Given the description of an element on the screen output the (x, y) to click on. 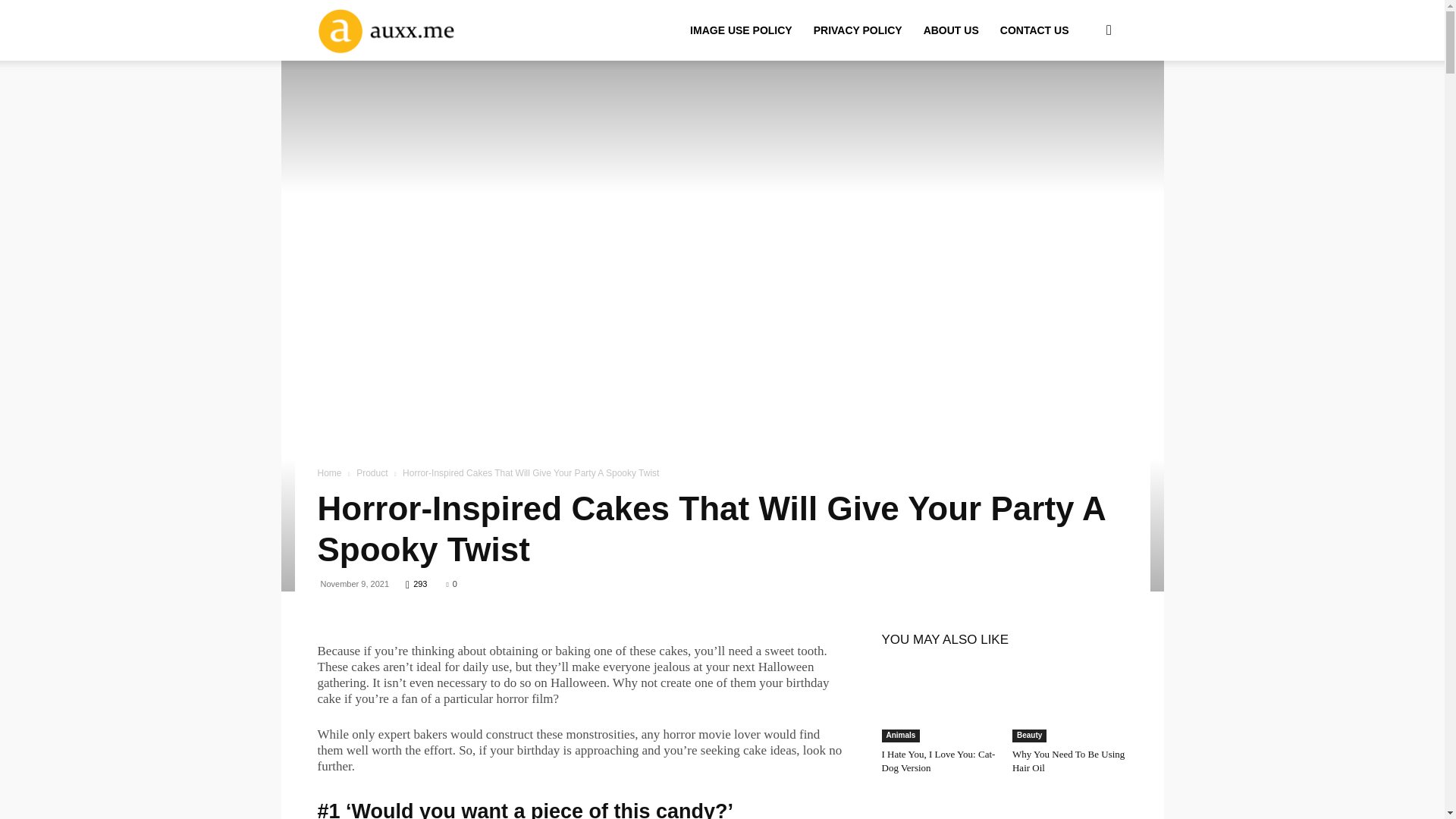
Product (371, 472)
CONTACT US (1035, 30)
IMAGE USE POLICY (741, 30)
0 (451, 583)
Auxx Me (408, 30)
Home (328, 472)
View all posts in Product (371, 472)
PRIVACY POLICY (857, 30)
Search (1085, 102)
ABOUT US (951, 30)
